Given the description of an element on the screen output the (x, y) to click on. 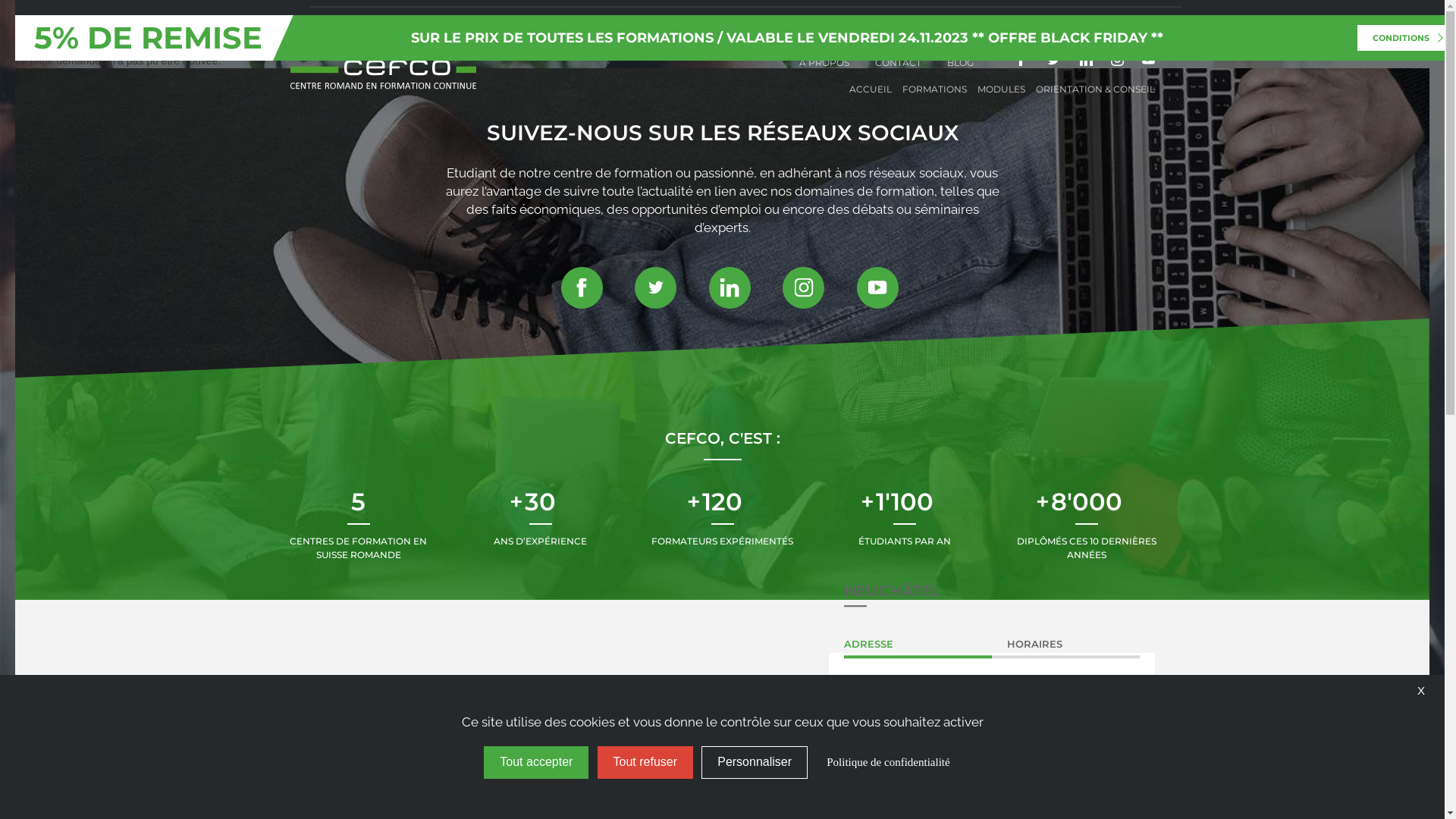
Tout accepter Element type: text (535, 762)
FORMATIONS Element type: text (934, 88)
CONTACT Element type: text (898, 62)
MODULES Element type: text (1001, 88)
A PROPOS Element type: text (824, 62)
Tout refuser Element type: text (645, 762)
Personnaliser Element type: text (754, 762)
CONDITIONS Element type: text (1404, 37)
Accueil Element type: hover (382, 64)
ACCUEIL Element type: text (870, 88)
BLOG Element type: text (960, 62)
ORIENTATION & CONSEIL Element type: text (1094, 88)
